Given the description of an element on the screen output the (x, y) to click on. 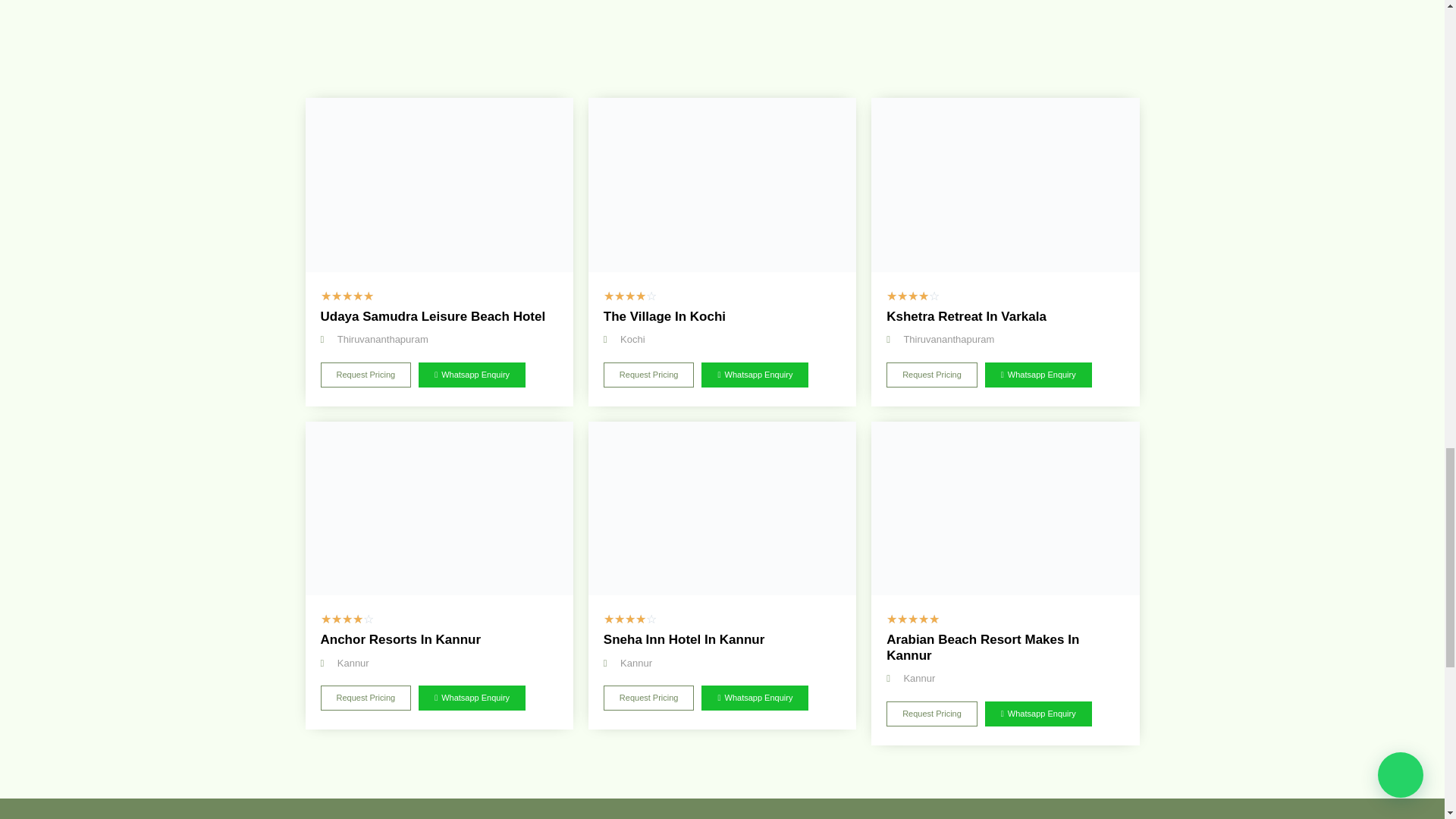
Kshetra Retreat In Varkala (1004, 184)
The Village In Kochi W (722, 184)
Udaya Samudra Leisure Beach Hotel (438, 184)
Anchor Resorts In Kannur (438, 508)
Sneha Inn, Kannur W (722, 508)
Arabian Beach Resort Makes W (1004, 508)
